Given the description of an element on the screen output the (x, y) to click on. 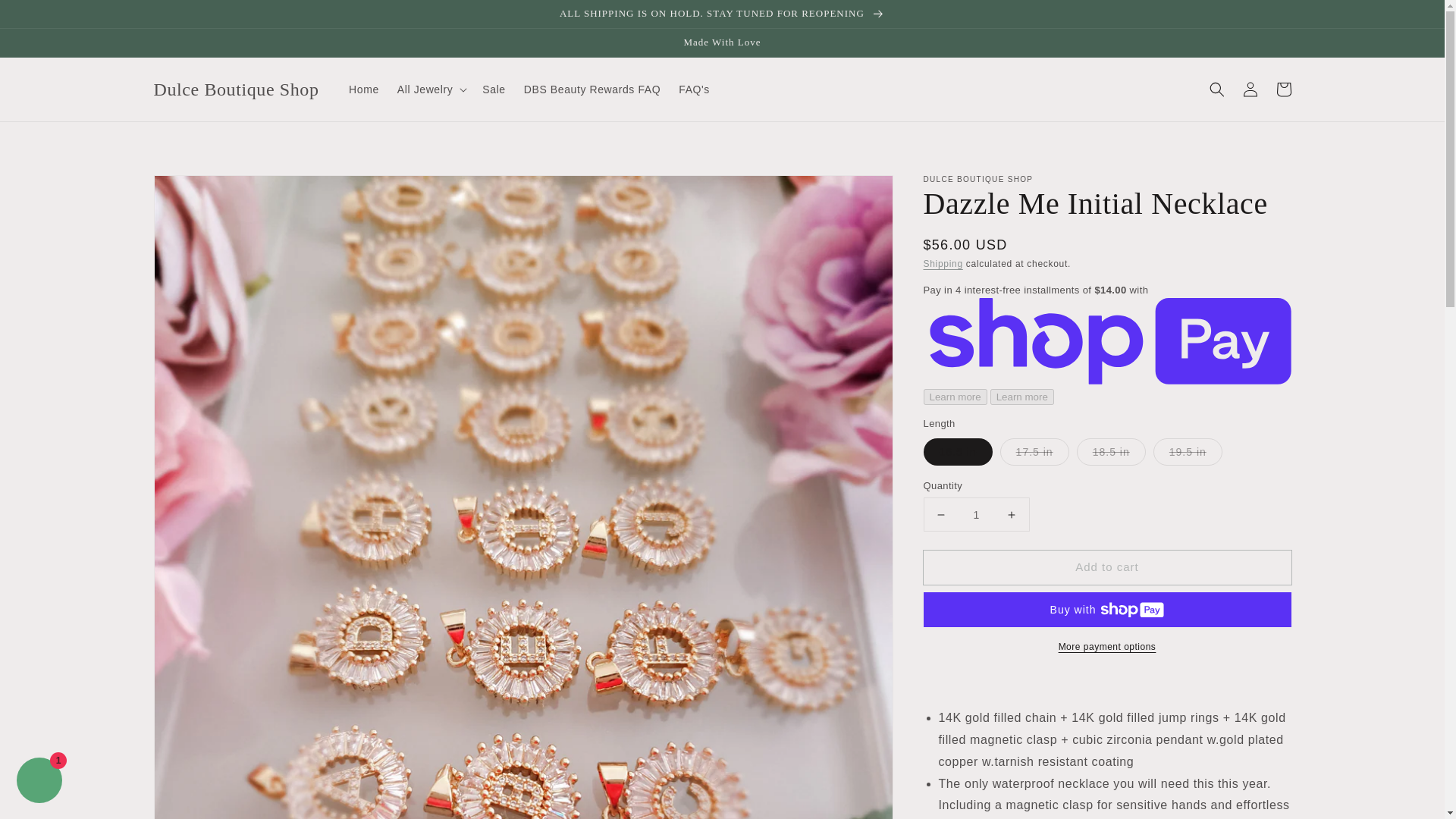
Skip to product information (198, 191)
1 (976, 513)
Home (363, 89)
Dulce Boutique Shop (236, 89)
Decrease quantity for Dazzle Me Initial Necklace (940, 513)
Skip to content (45, 16)
Log in (1249, 89)
Cart (1283, 89)
FAQ's (694, 89)
Shipping (942, 263)
DBS Beauty Rewards FAQ (592, 89)
